Given the description of an element on the screen output the (x, y) to click on. 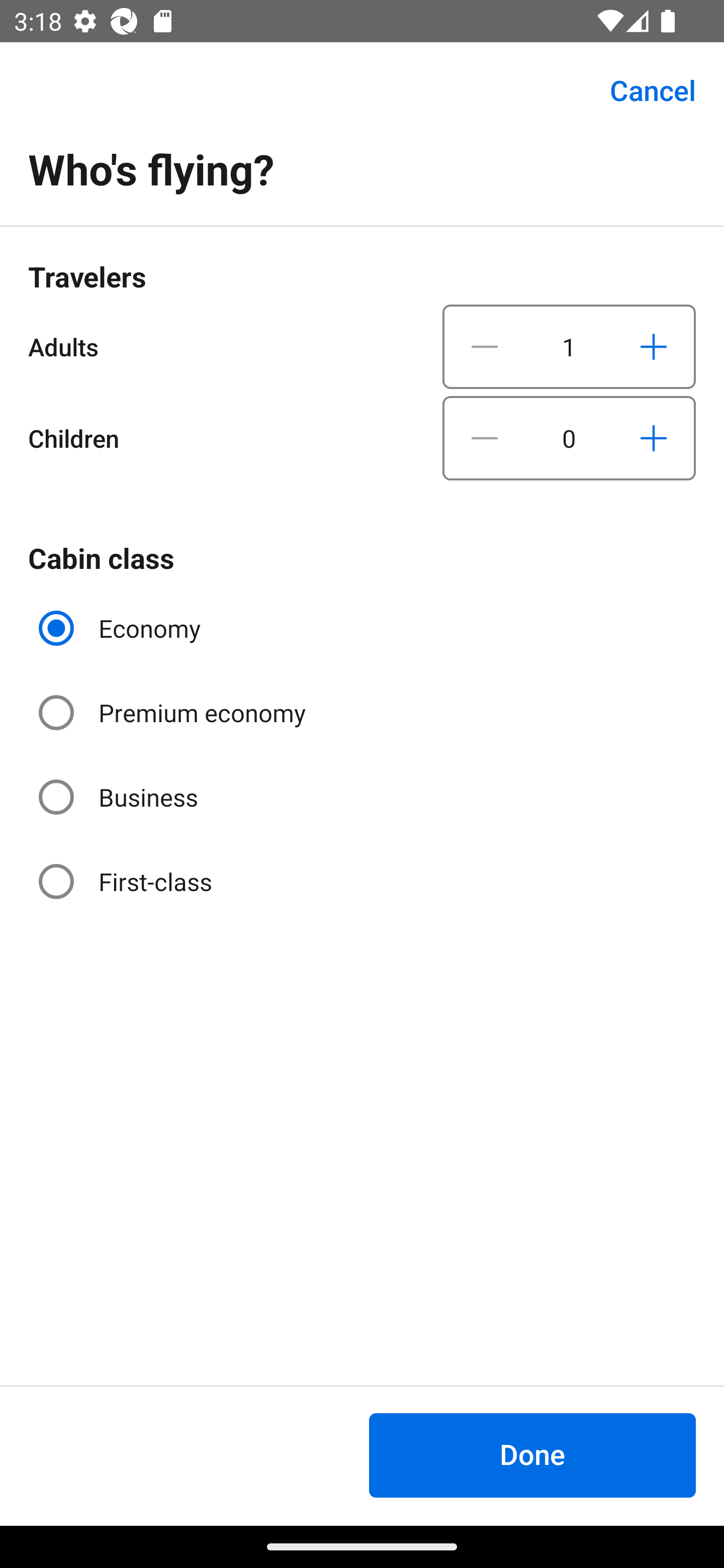
Cancel (641, 90)
Decrease (484, 346)
Increase (653, 346)
Decrease (484, 437)
Increase (653, 437)
Economy (121, 628)
Premium economy (174, 712)
Business (120, 796)
First-class (126, 880)
Done (532, 1454)
